Given the description of an element on the screen output the (x, y) to click on. 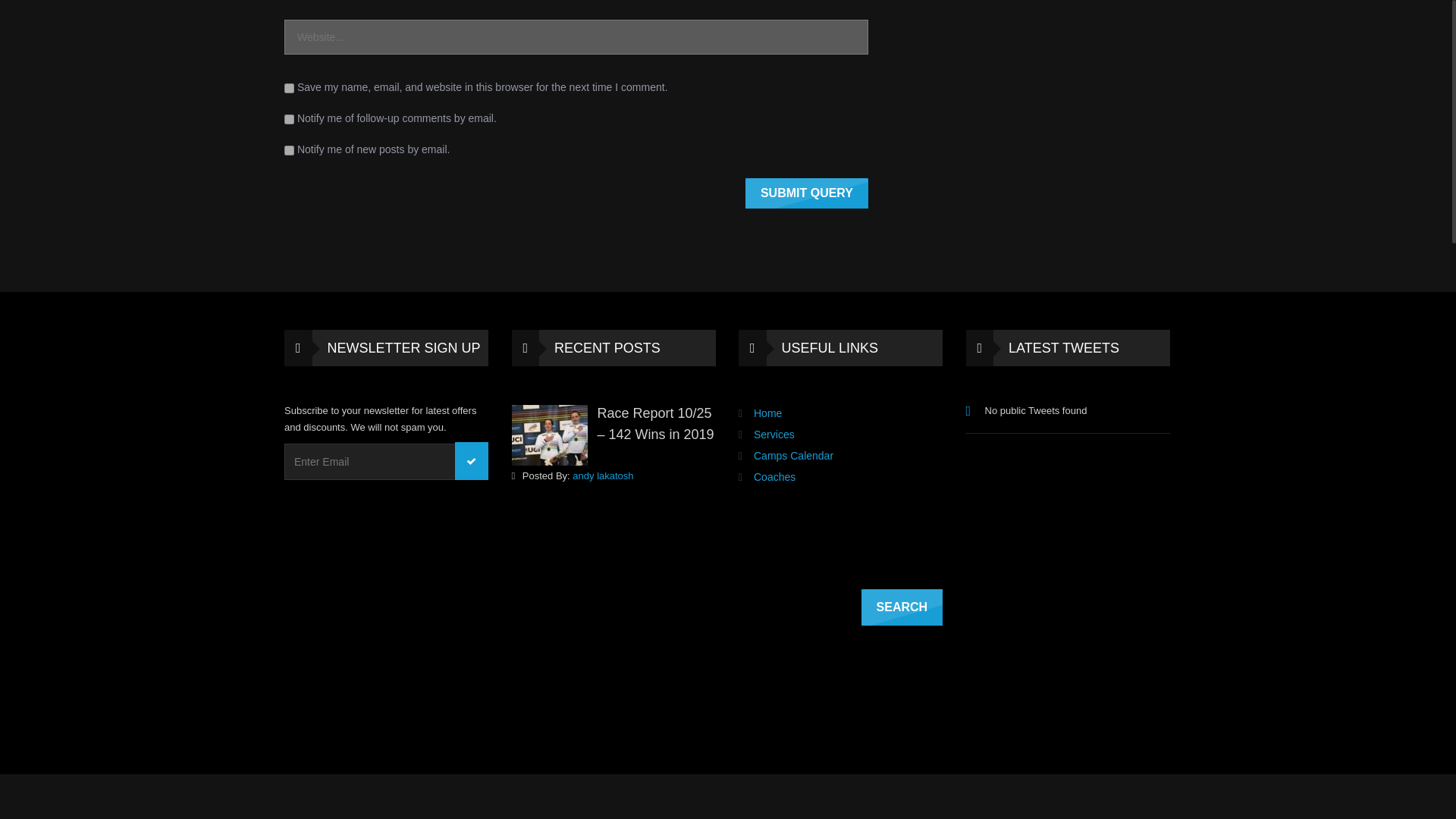
Submit Query (806, 193)
